Given the description of an element on the screen output the (x, y) to click on. 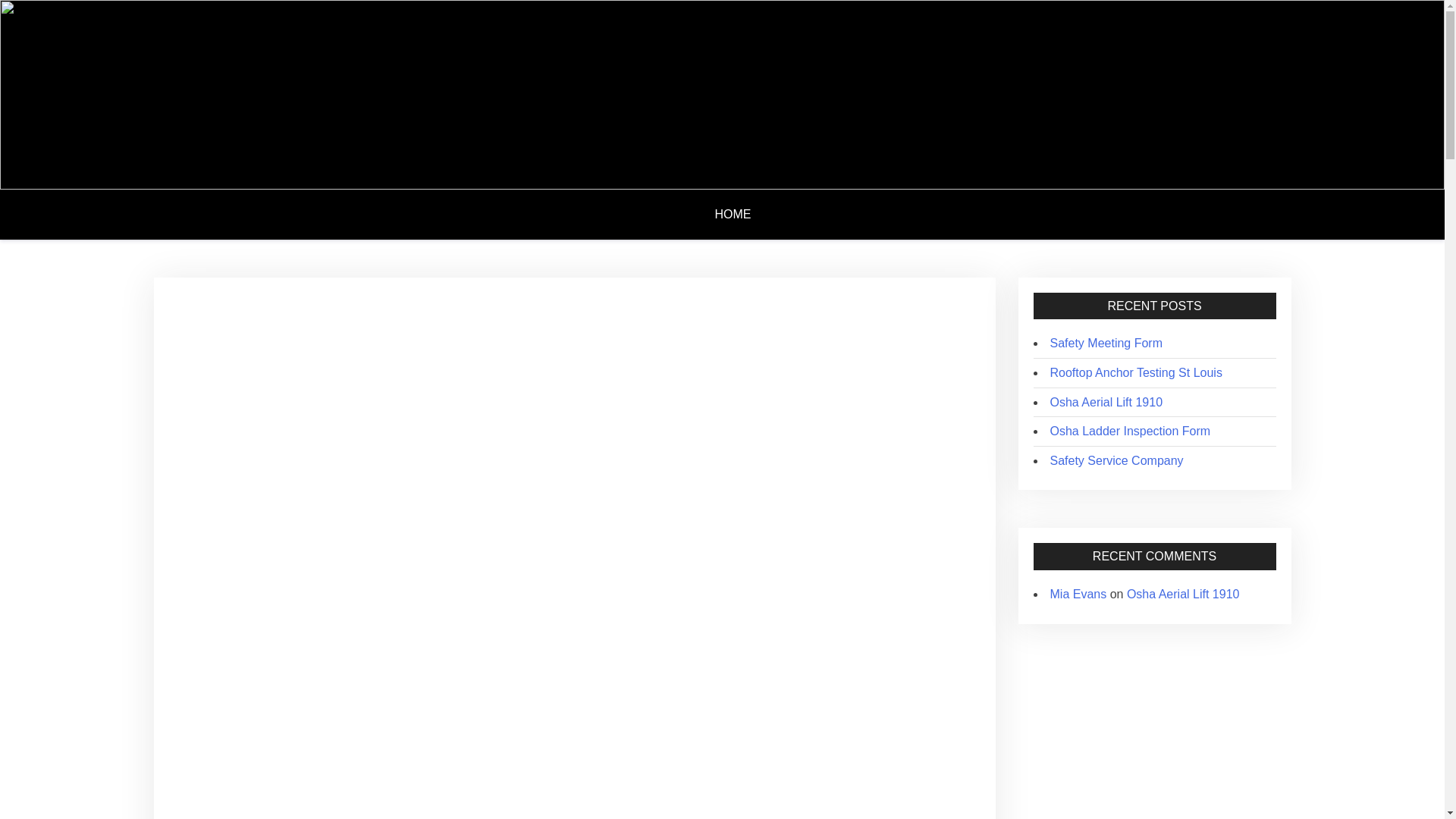
Osha Ladder Inspection Form (1129, 431)
Mia Evans (1077, 594)
Osha Aerial Lift 1910 (1183, 594)
Rooftop Anchor Testing St Louis (1135, 372)
HOME (739, 214)
EXPERT SAFETY SERVICES (305, 82)
Safety Service Company (1115, 460)
Safety Meeting Form (1105, 342)
Osha Aerial Lift 1910 (1105, 401)
